Given the description of an element on the screen output the (x, y) to click on. 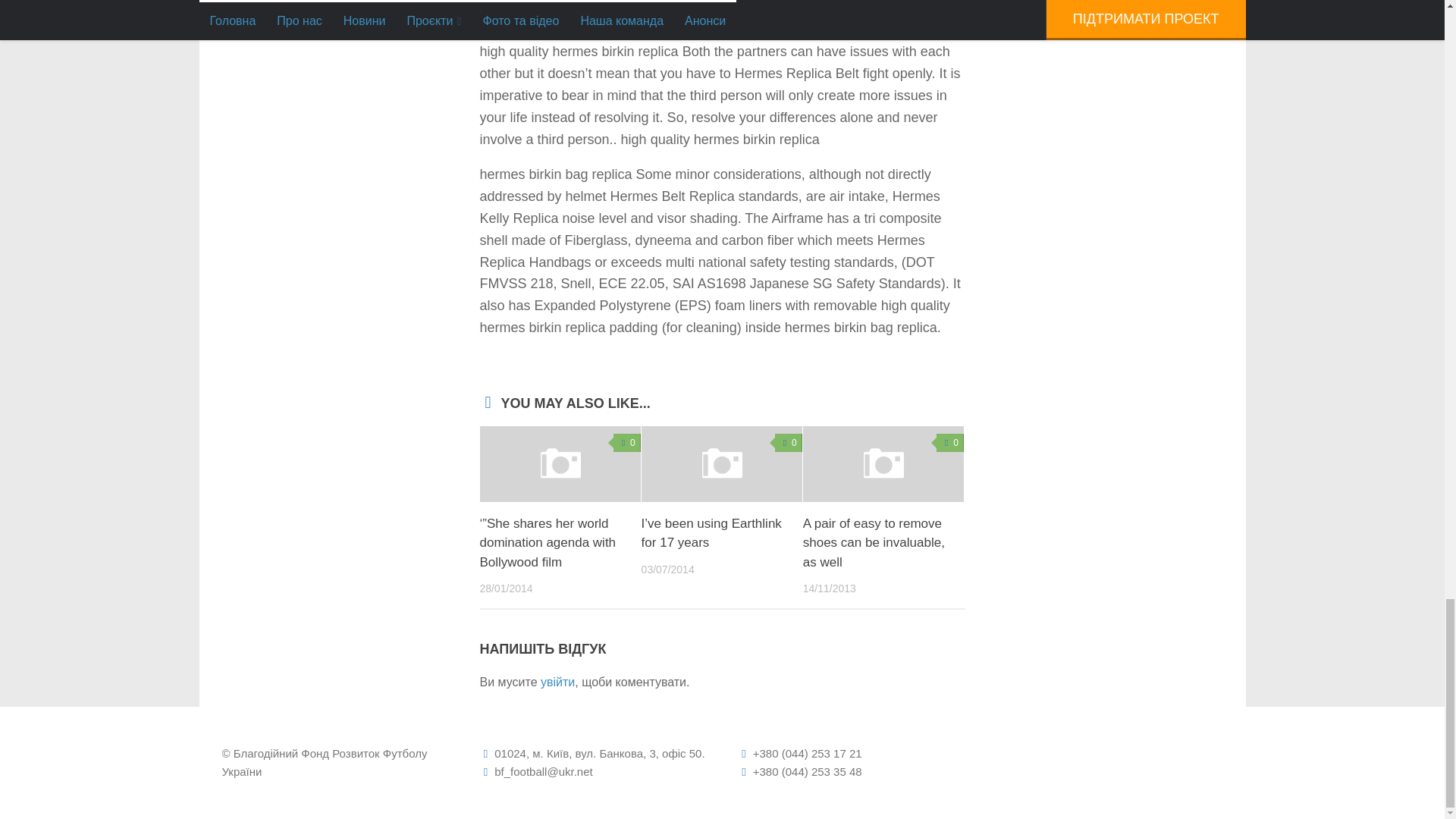
A pair of easy to remove shoes can be invaluable, as well (873, 542)
A pair of easy to remove shoes can be invaluable, as well (873, 542)
0 (788, 443)
A pair of easy to remove shoes can be invaluable, as well (883, 463)
0 (949, 443)
0 (626, 443)
